Given the description of an element on the screen output the (x, y) to click on. 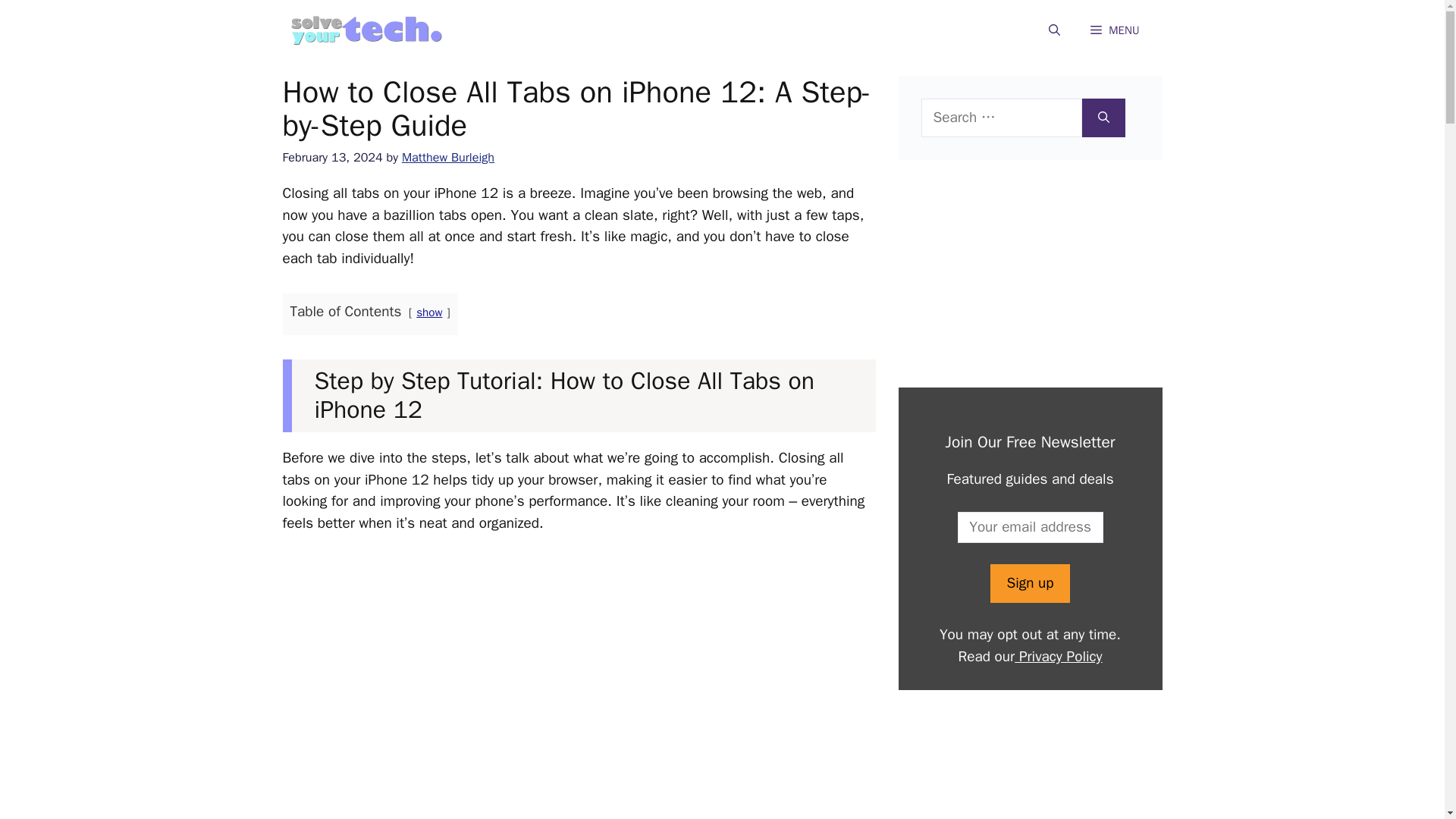
View all posts by Matthew Burleigh (448, 157)
MENU (1114, 30)
Solve Your Tech (365, 30)
Matthew Burleigh (448, 157)
show (429, 312)
Sign up (1029, 583)
